Given the description of an element on the screen output the (x, y) to click on. 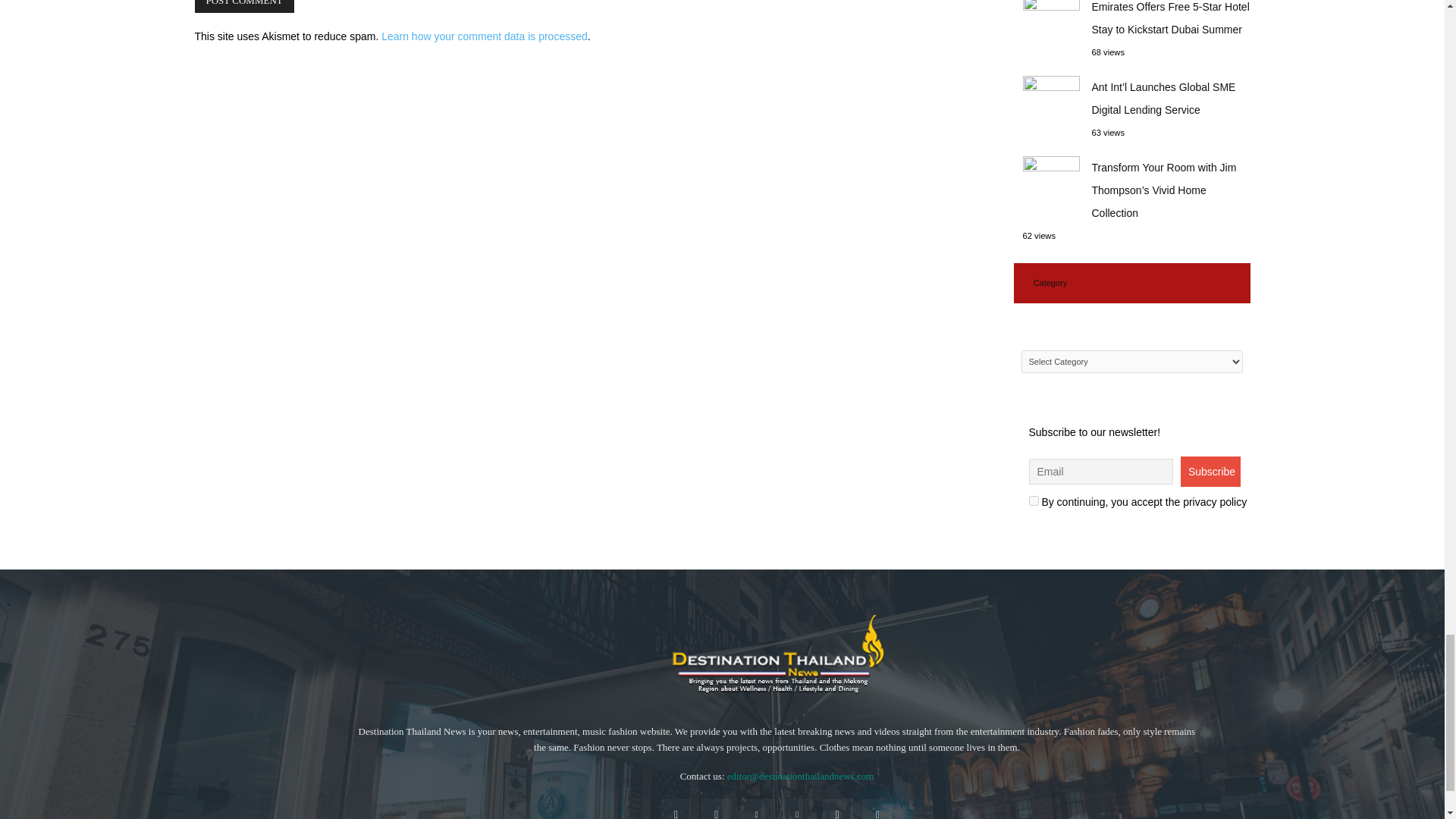
Post Comment (243, 6)
Subscribe (1210, 471)
on (1032, 501)
